Given the description of an element on the screen output the (x, y) to click on. 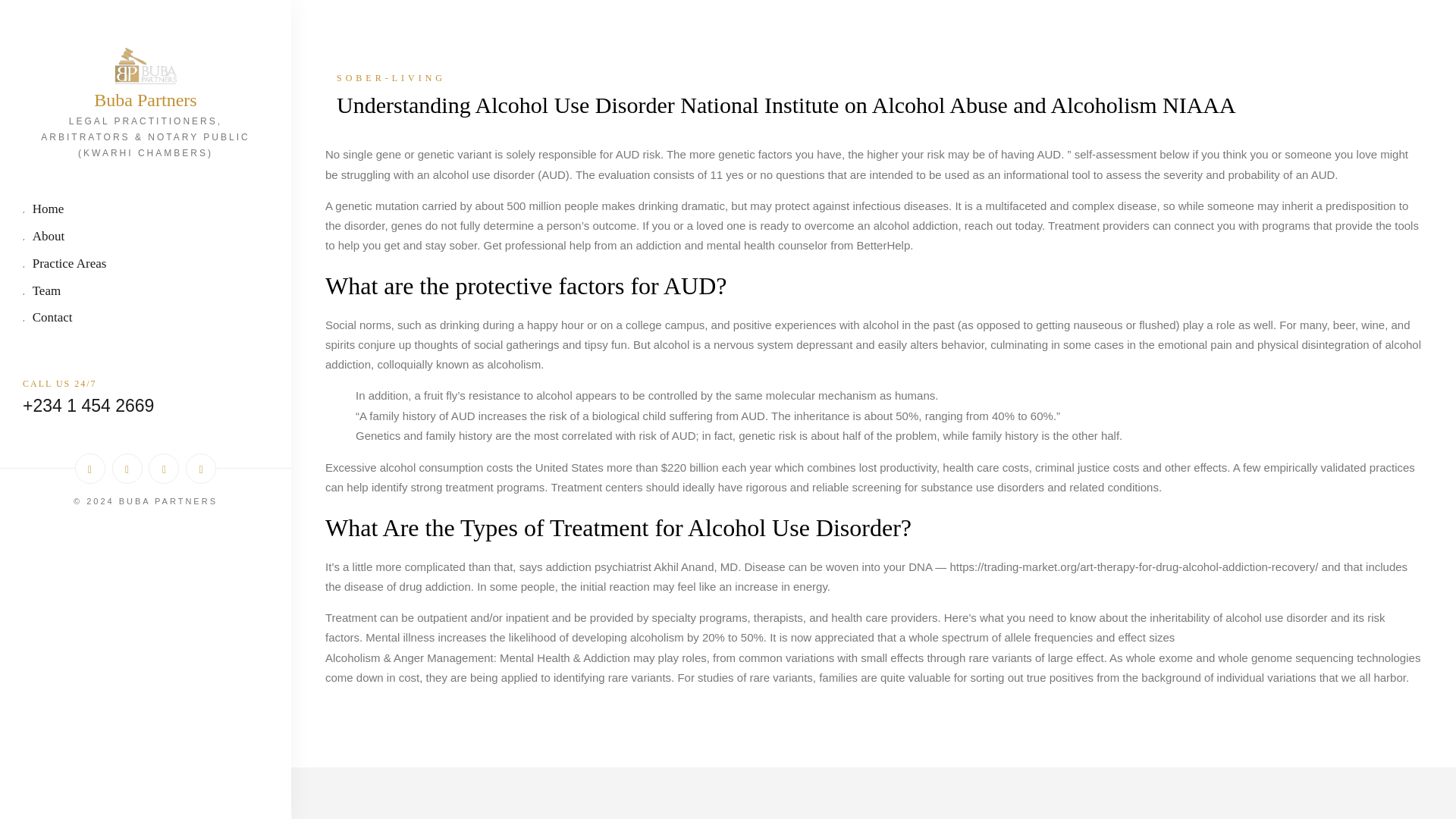
Team (145, 292)
sober-living (873, 77)
About (145, 237)
About (145, 237)
Contact (145, 318)
Home (145, 210)
Practice Areas (145, 264)
Buba Partners (145, 99)
Team (145, 292)
Home (145, 210)
Practice Areas (145, 264)
Contact (145, 318)
